Given the description of an element on the screen output the (x, y) to click on. 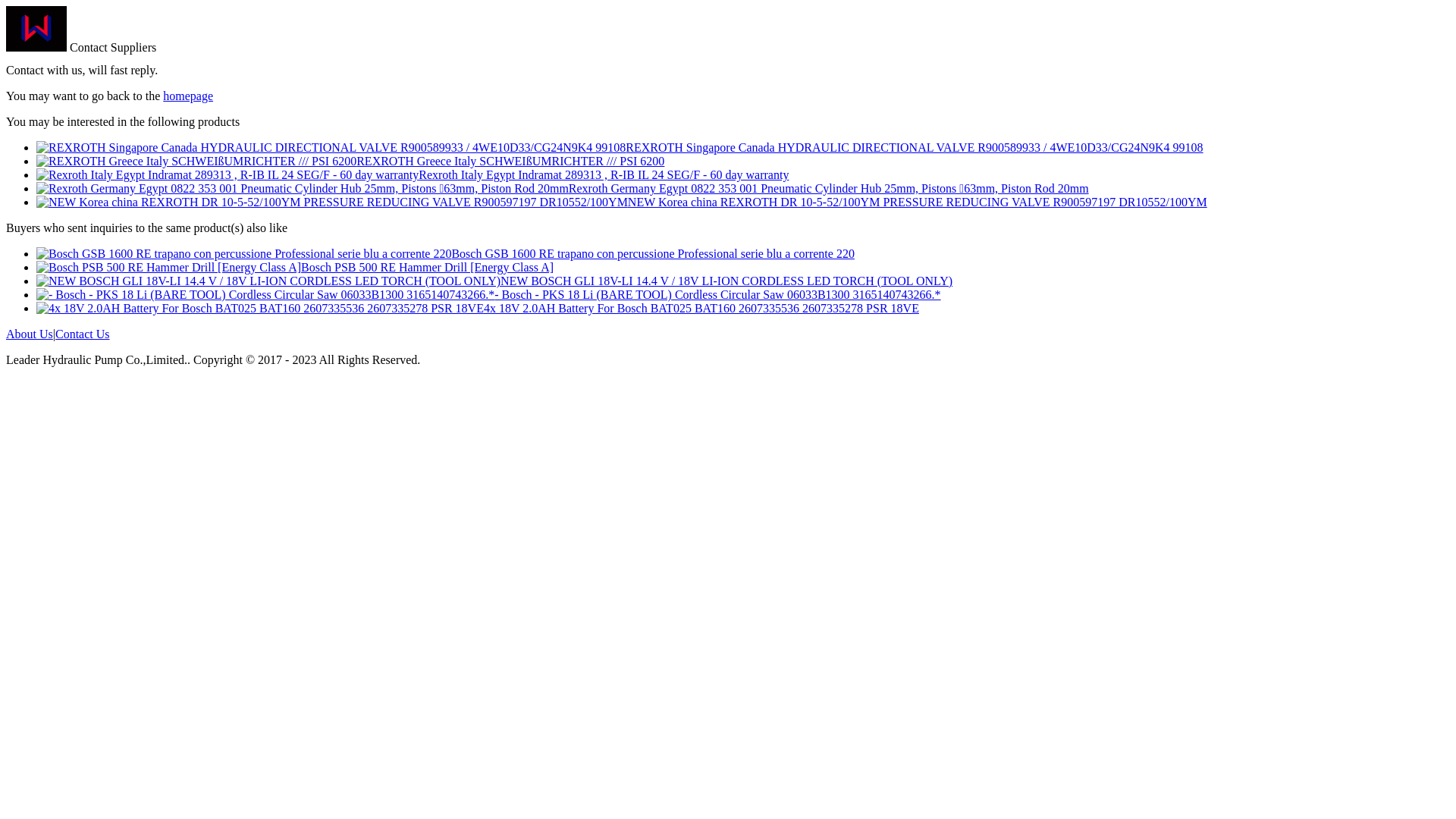
Contact Us Element type: text (82, 333)
Leader Hydraulic Pump Co.,Limited. Element type: hover (36, 46)
About Us Element type: text (29, 333)
homepage Element type: text (188, 95)
Bosch PSB 500 RE Hammer Drill  [Energy Class A] Element type: hover (168, 266)
Bosch PSB 500 RE Hammer Drill [Energy Class A] Element type: text (427, 266)
